Given the description of an element on the screen output the (x, y) to click on. 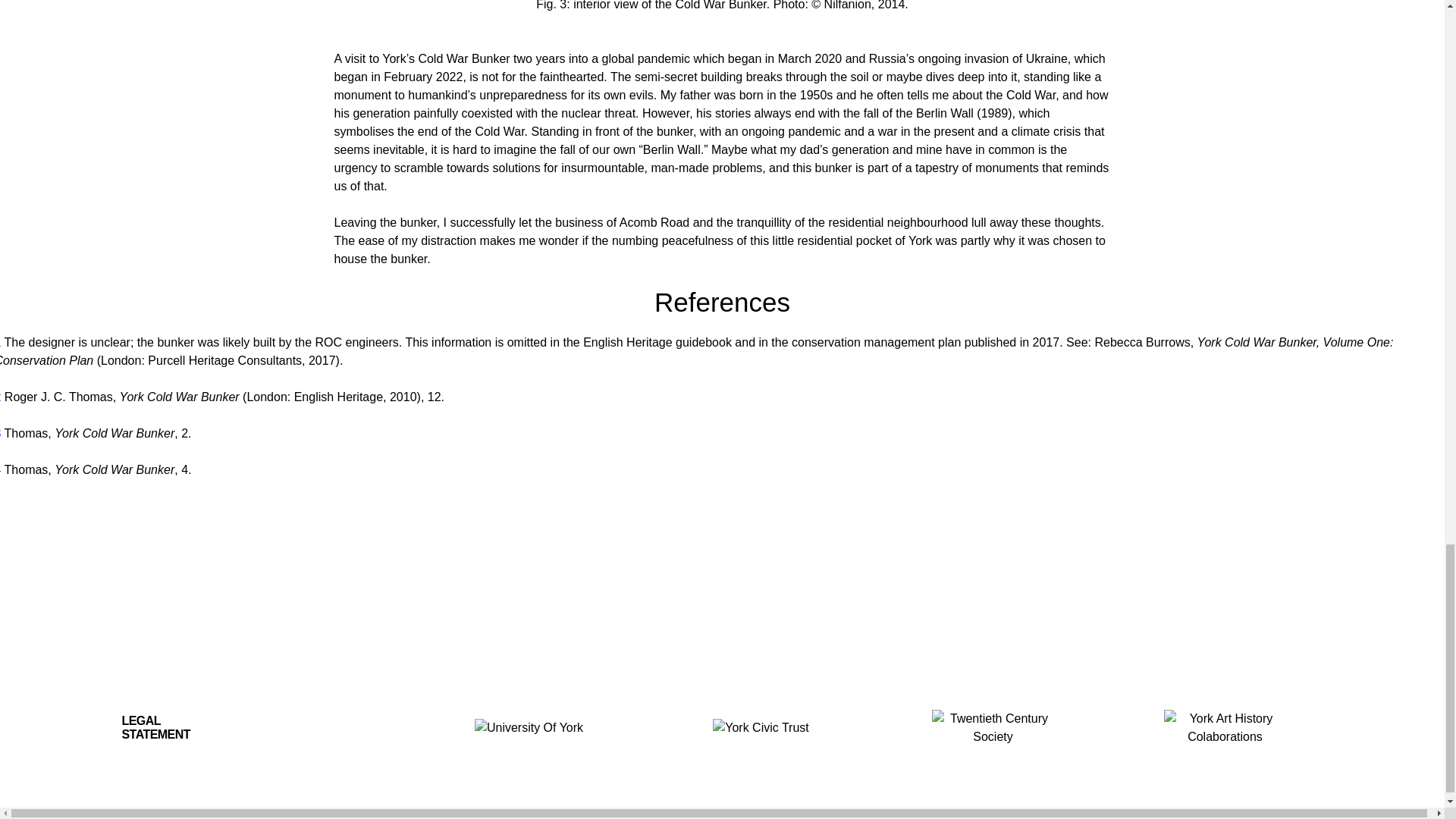
Twentieth-Century-Society (992, 728)
York-Civic-Trust (761, 728)
LEGAL STATEMENT (181, 727)
York-Art-History-Colaborations (1224, 728)
University-of-York (528, 728)
